Given the description of an element on the screen output the (x, y) to click on. 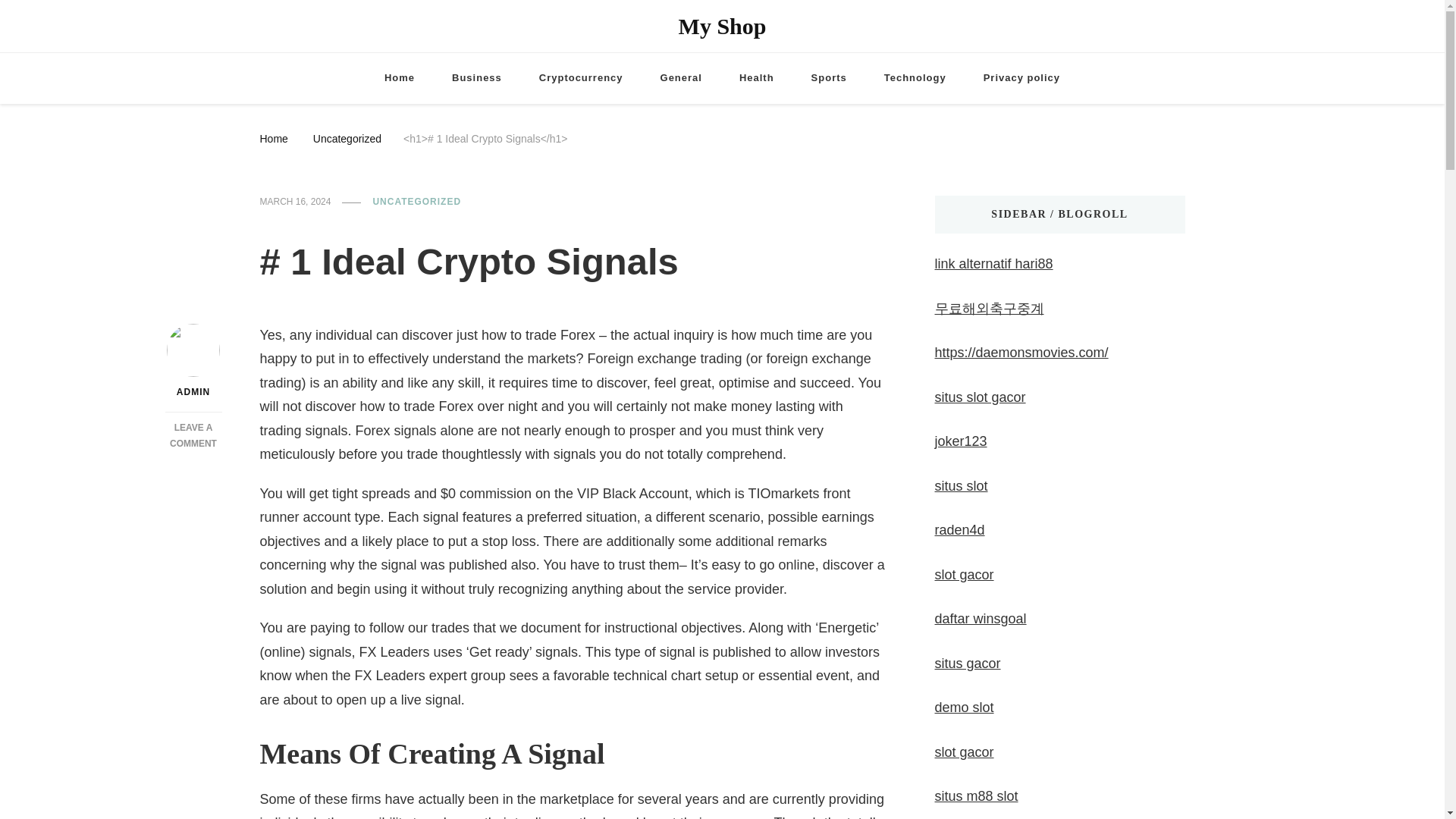
My Shop (722, 25)
MARCH 16, 2024 (294, 202)
Uncategorized (347, 137)
Privacy policy (1021, 78)
Home (399, 78)
Search (1365, 28)
Cryptocurrency (581, 78)
Health (756, 78)
Business (193, 435)
Technology (476, 78)
Sports (914, 78)
Home (828, 78)
UNCATEGORIZED (272, 137)
General (416, 202)
